Given the description of an element on the screen output the (x, y) to click on. 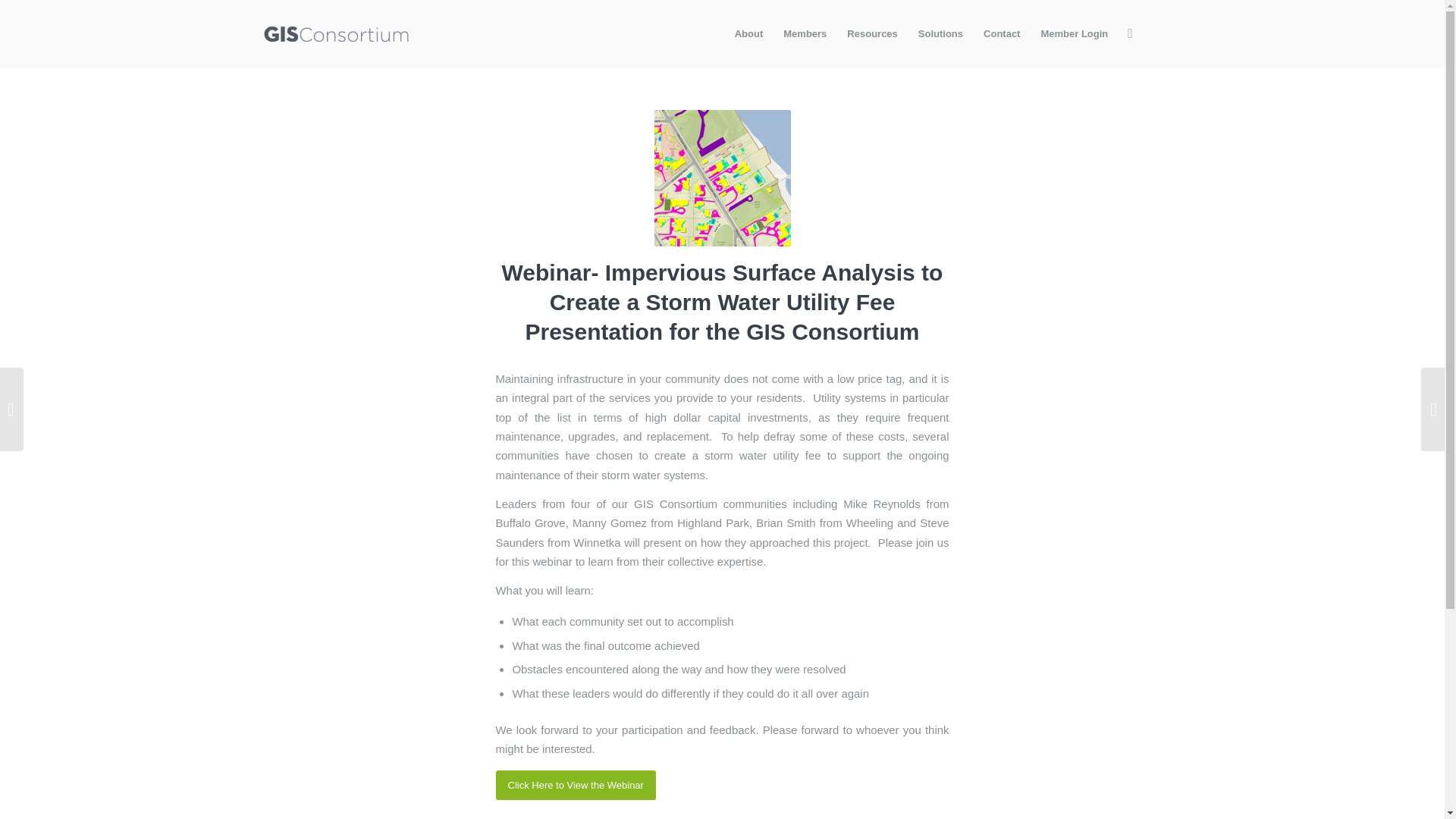
Impervious Surface Analysis (721, 177)
Solutions (939, 33)
Member Login (1073, 33)
Members (804, 33)
Click Here to View the Webinar (576, 785)
Resources (871, 33)
